Given the description of an element on the screen output the (x, y) to click on. 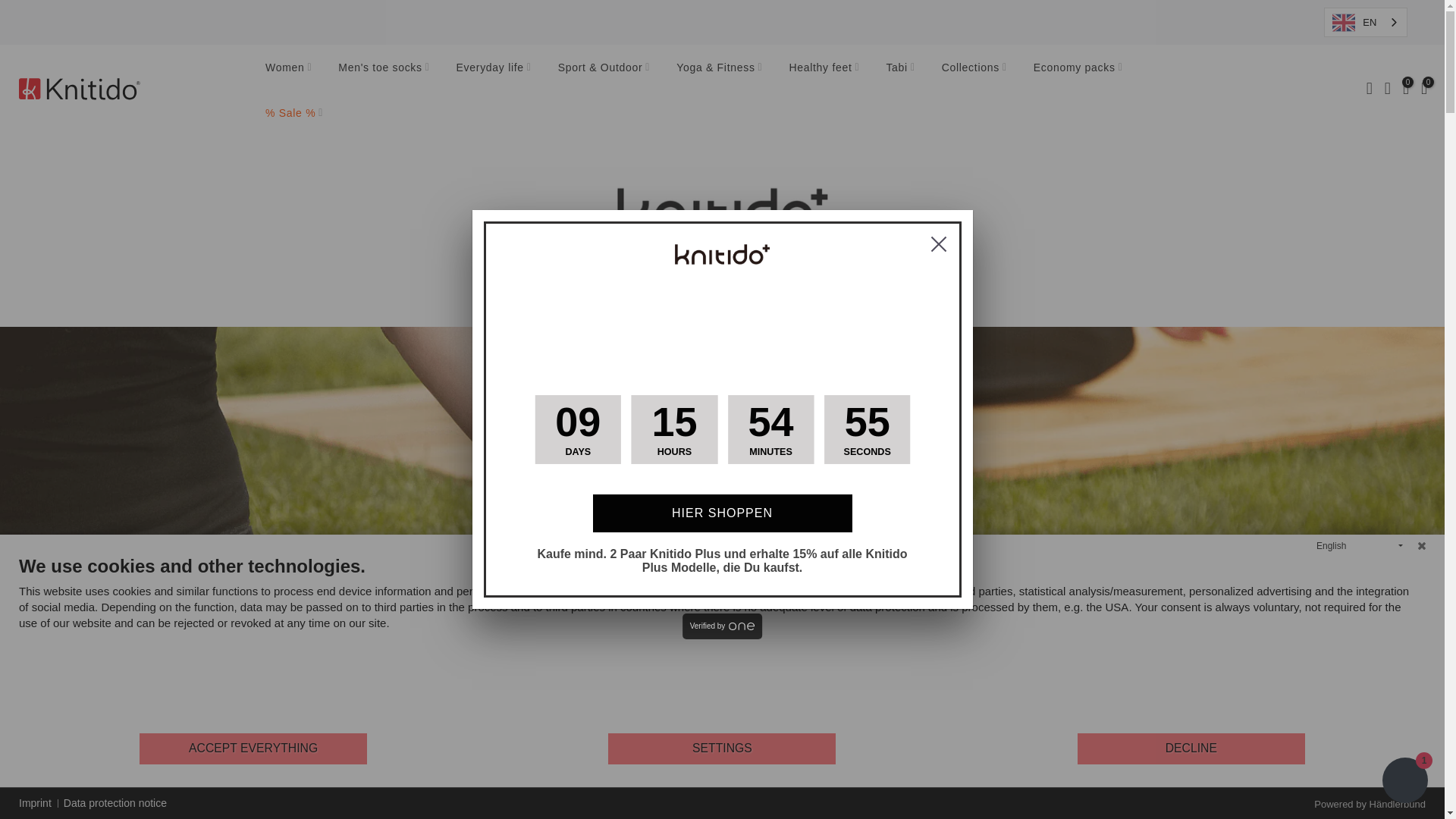
Everyday life (493, 67)
Women (287, 67)
Shopify online store chat (1404, 781)
Men's toe socks (383, 67)
EN (1365, 22)
Close (1421, 545)
